Given the description of an element on the screen output the (x, y) to click on. 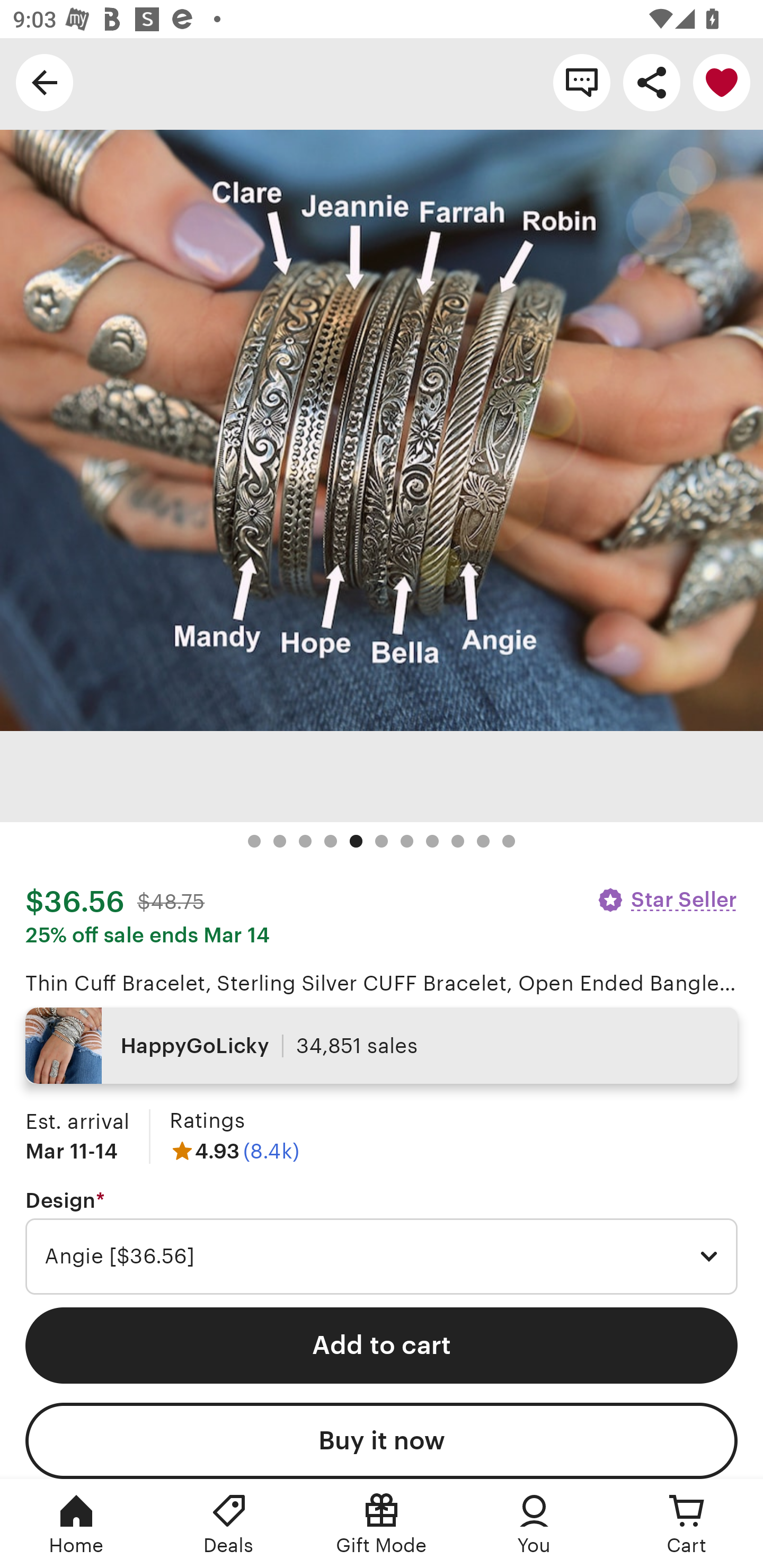
Navigate up (44, 81)
Contact shop (581, 81)
Share (651, 81)
Star Seller (666, 899)
HappyGoLicky 34,851 sales (381, 1045)
Ratings (206, 1120)
4.93 (8.4k) (234, 1150)
Design * Required Angie [$36.56] (381, 1241)
Angie [$36.56] (381, 1256)
Add to cart (381, 1344)
Buy it now (381, 1440)
Deals (228, 1523)
Gift Mode (381, 1523)
You (533, 1523)
Cart (686, 1523)
